Given the description of an element on the screen output the (x, y) to click on. 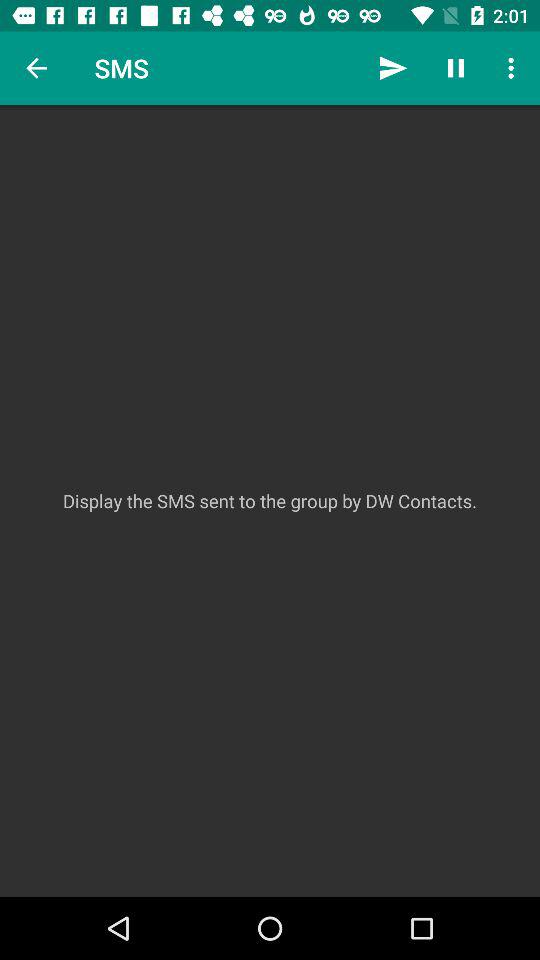
launch item to the right of the sms (392, 67)
